Given the description of an element on the screen output the (x, y) to click on. 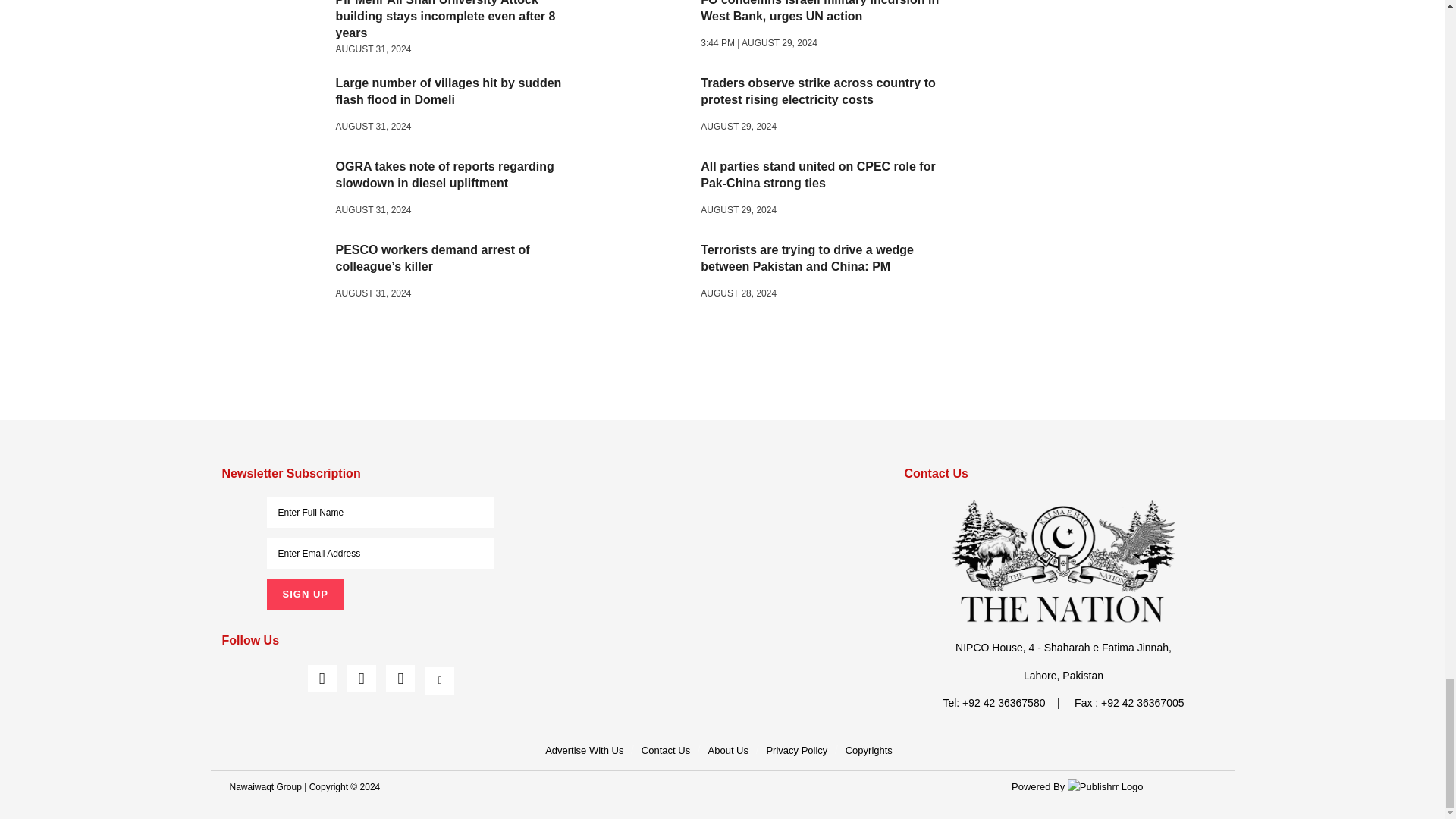
Sign up (304, 594)
